Given the description of an element on the screen output the (x, y) to click on. 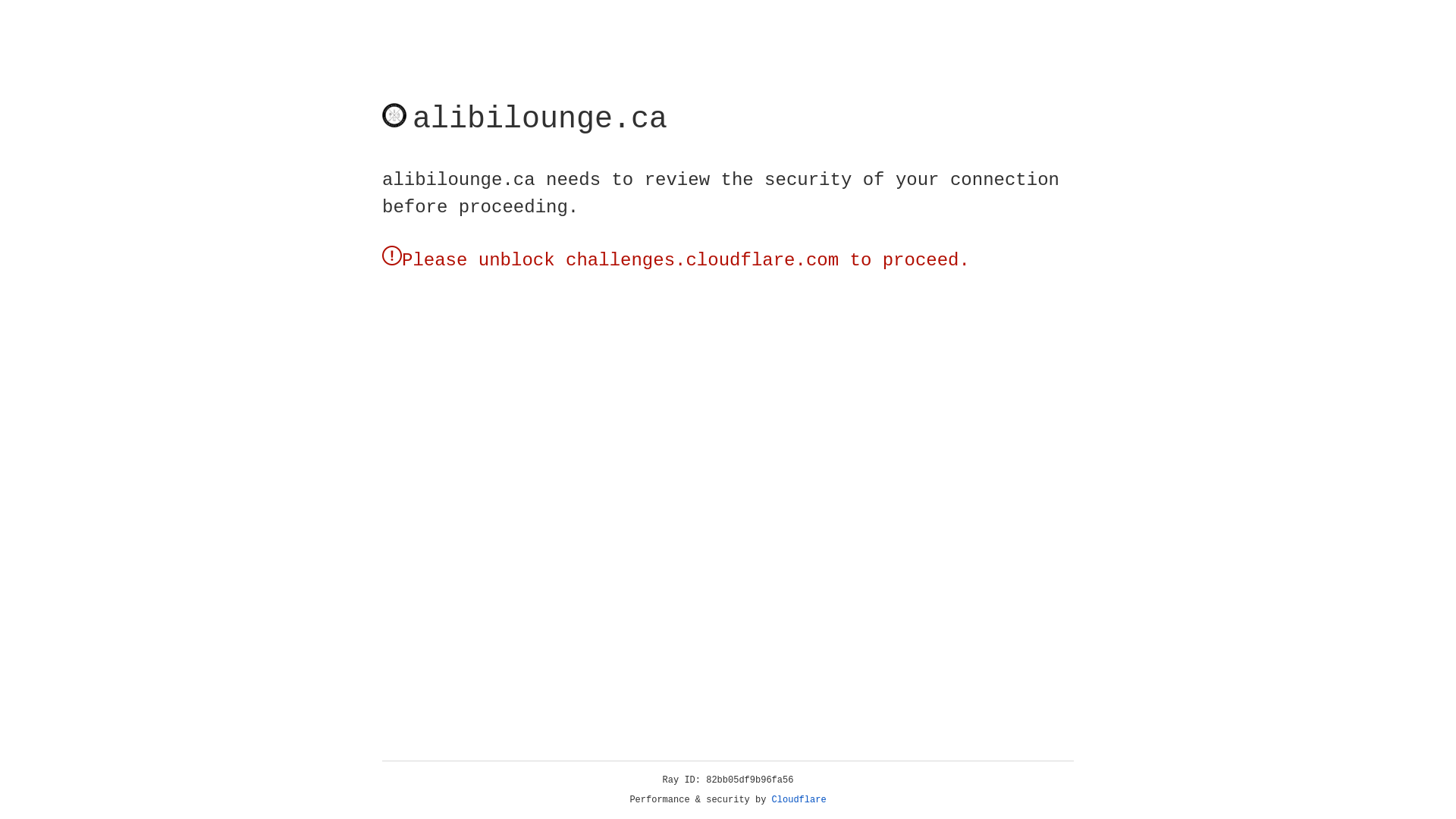
Cloudflare Element type: text (798, 799)
